Given the description of an element on the screen output the (x, y) to click on. 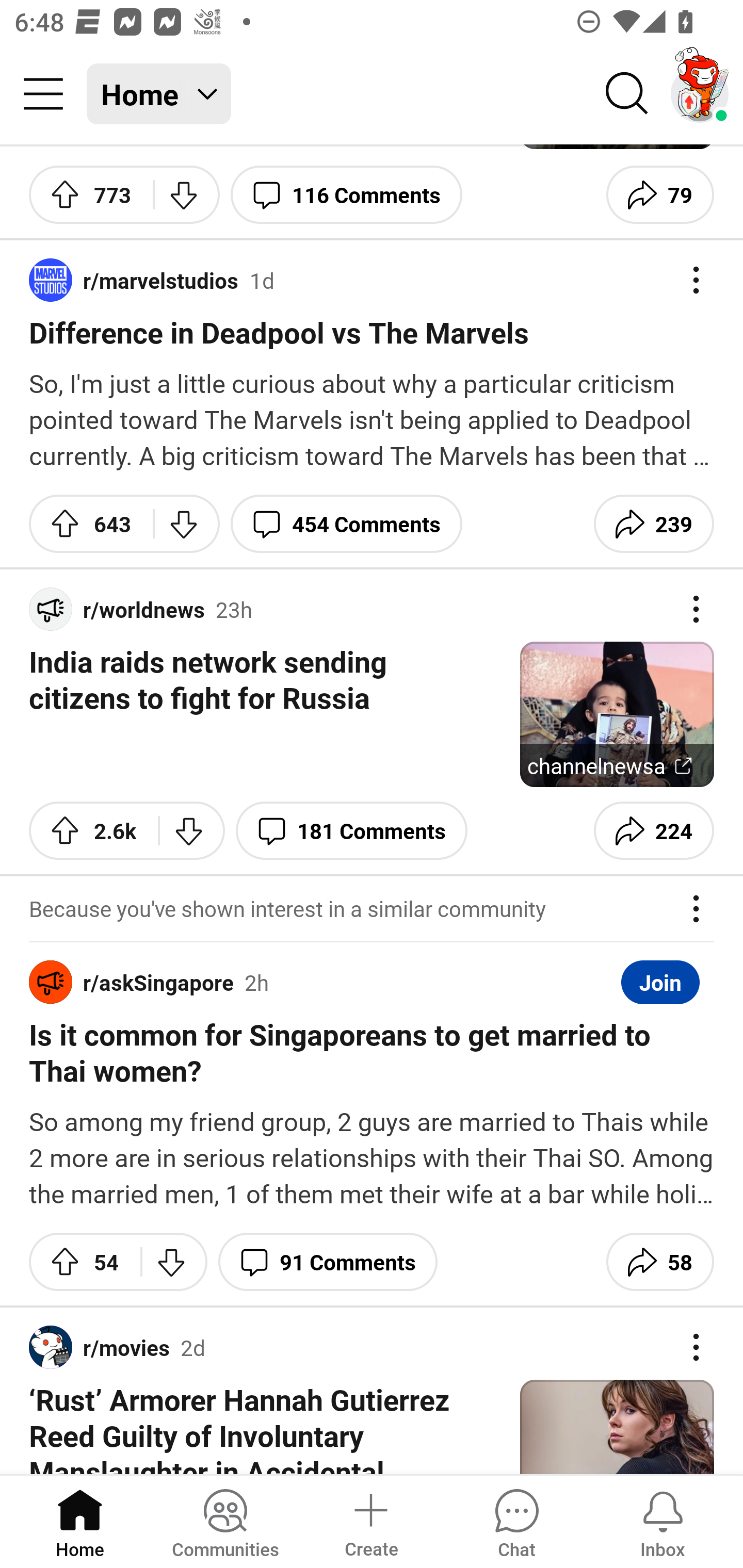
Community menu (43, 93)
Home Home feed (158, 93)
Search (626, 93)
TestAppium002 account (699, 93)
Home (80, 1520)
Communities (225, 1520)
Create a post Create (370, 1520)
Chat (516, 1520)
Inbox (662, 1520)
